Given the description of an element on the screen output the (x, y) to click on. 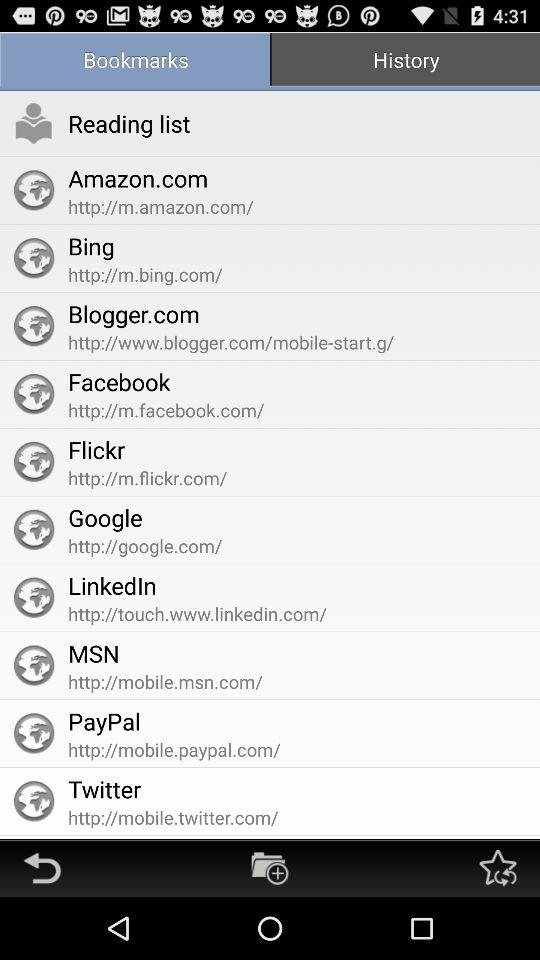
choose the app to the right of the bookmarks item (405, 61)
